Given the description of an element on the screen output the (x, y) to click on. 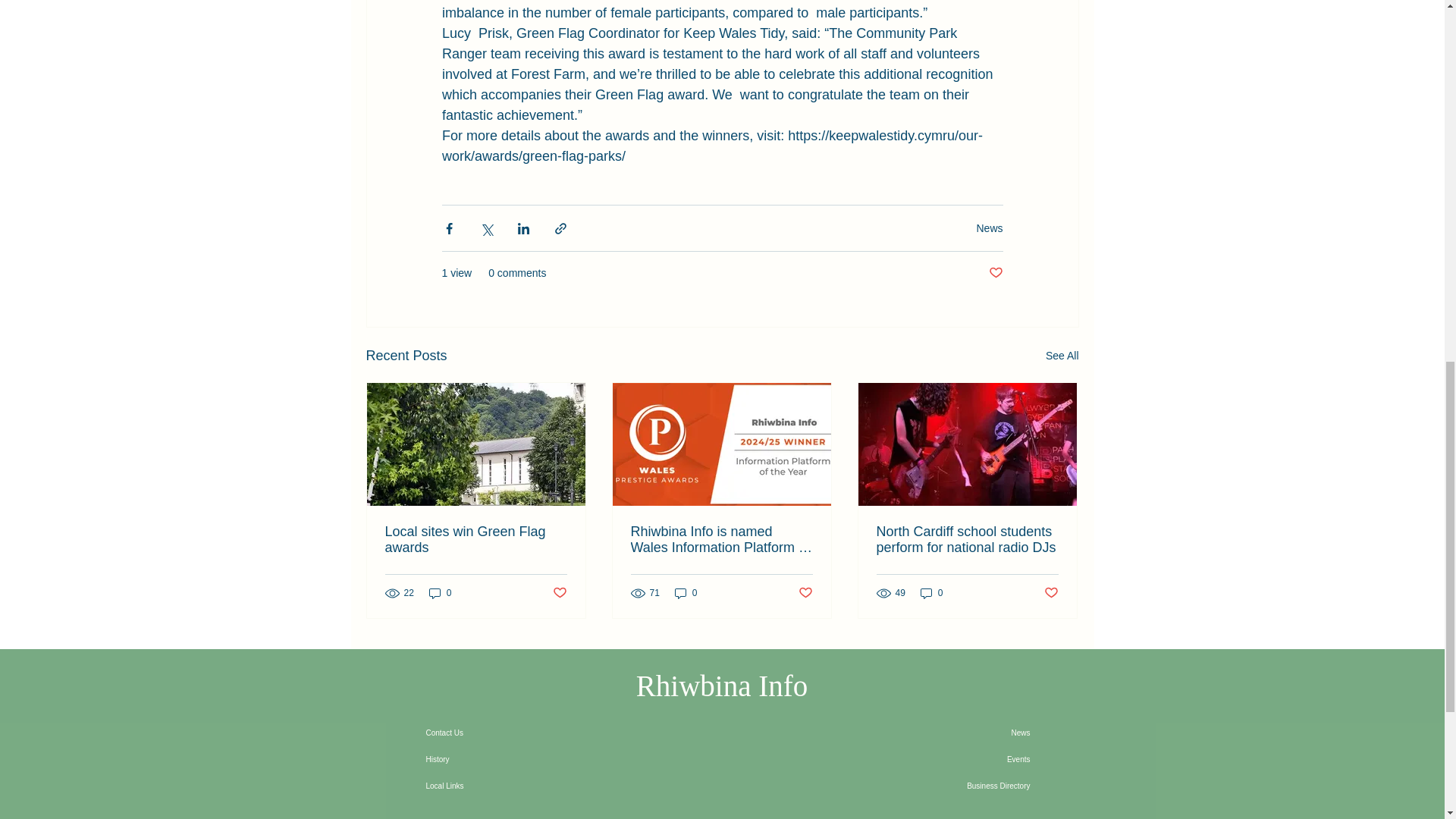
News (989, 227)
Post not marked as liked (995, 273)
0 (685, 592)
0 (931, 592)
Post not marked as liked (558, 593)
Post not marked as liked (804, 593)
Local sites win Green Flag awards (476, 540)
See All (1061, 355)
North Cardiff school students perform for national radio DJs (967, 540)
0 (440, 592)
